Given the description of an element on the screen output the (x, y) to click on. 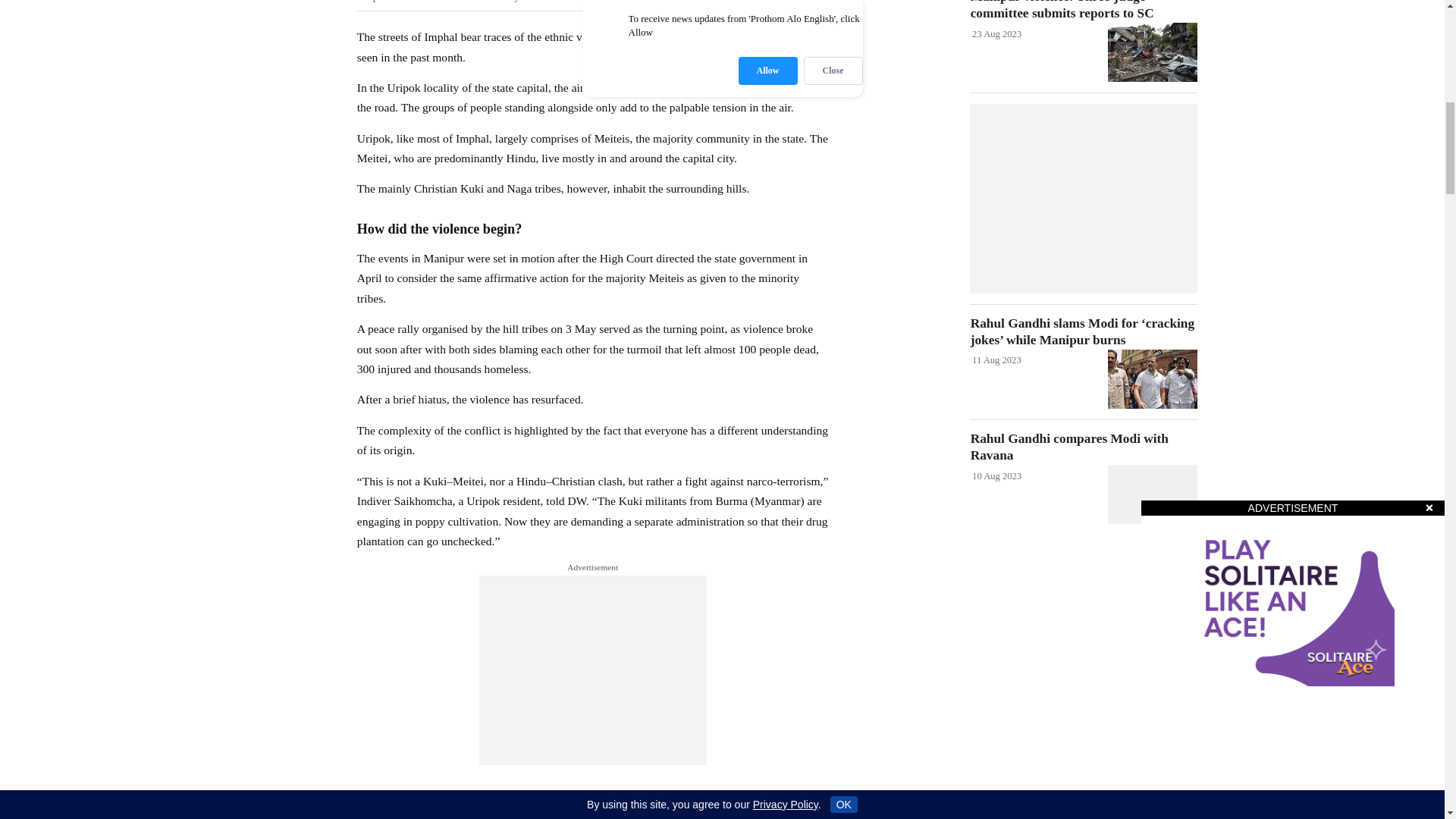
3rd party ad content (592, 669)
3rd party ad content (1082, 198)
